Given the description of an element on the screen output the (x, y) to click on. 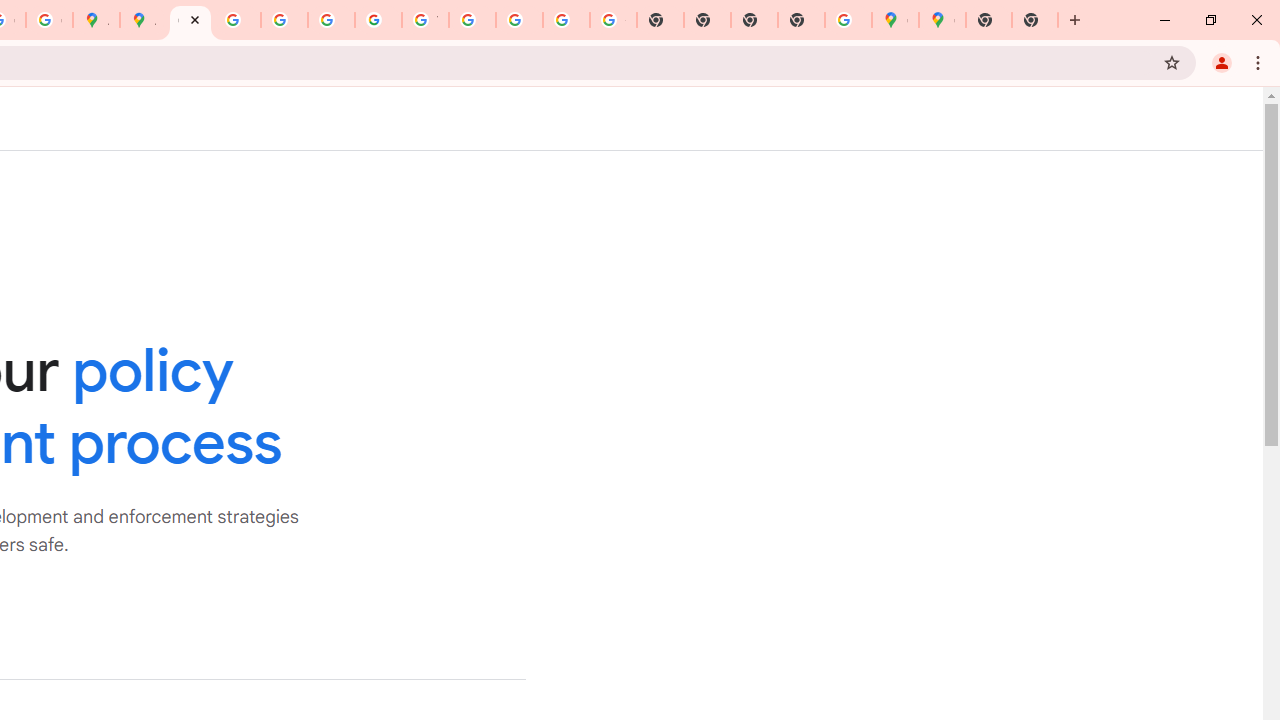
New Tab (989, 20)
Google Maps (942, 20)
Privacy Help Center - Policies Help (284, 20)
Google Maps (895, 20)
YouTube (425, 20)
New Tab (801, 20)
